Given the description of an element on the screen output the (x, y) to click on. 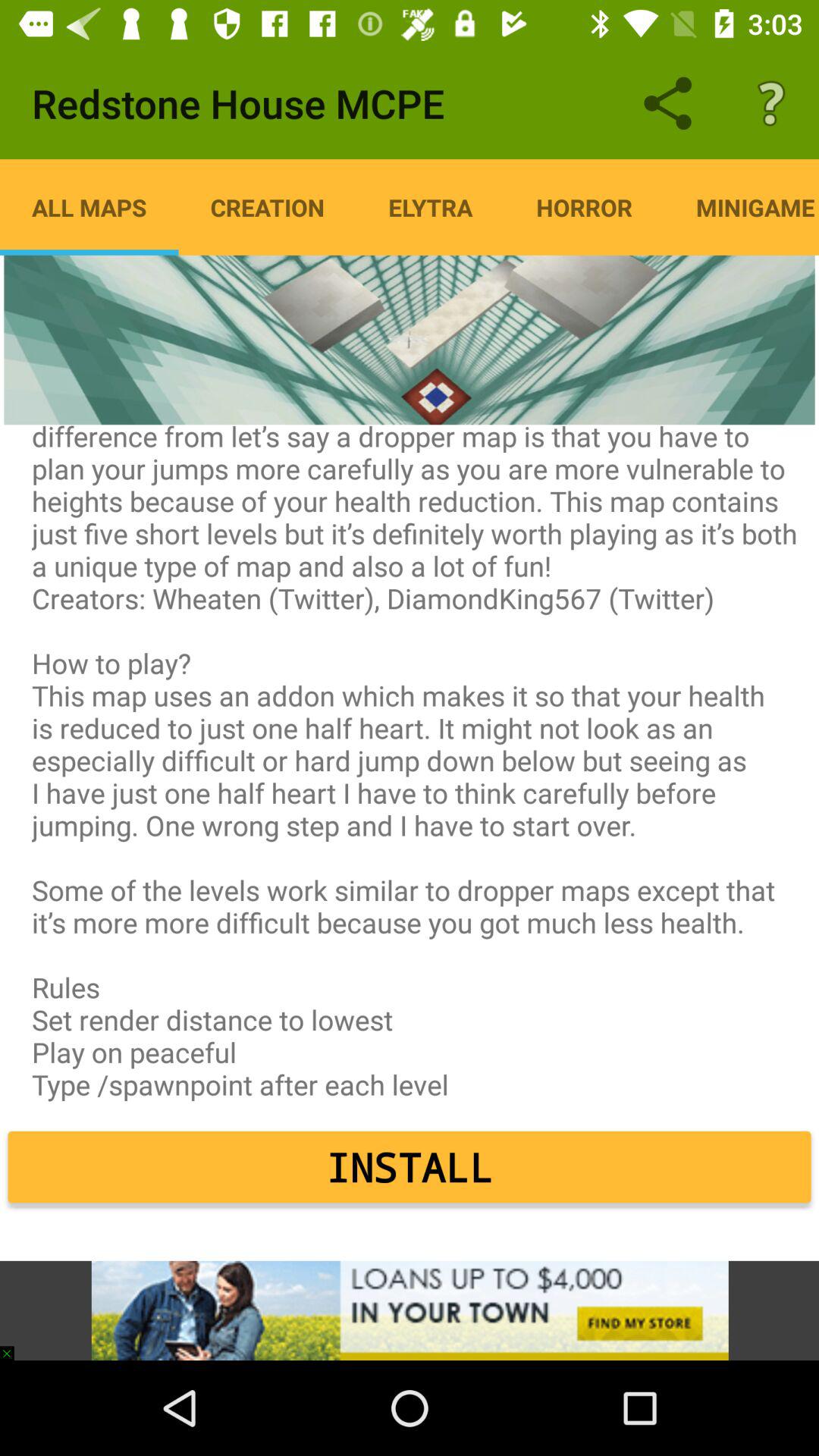
this is an advertisement (409, 1310)
